Given the description of an element on the screen output the (x, y) to click on. 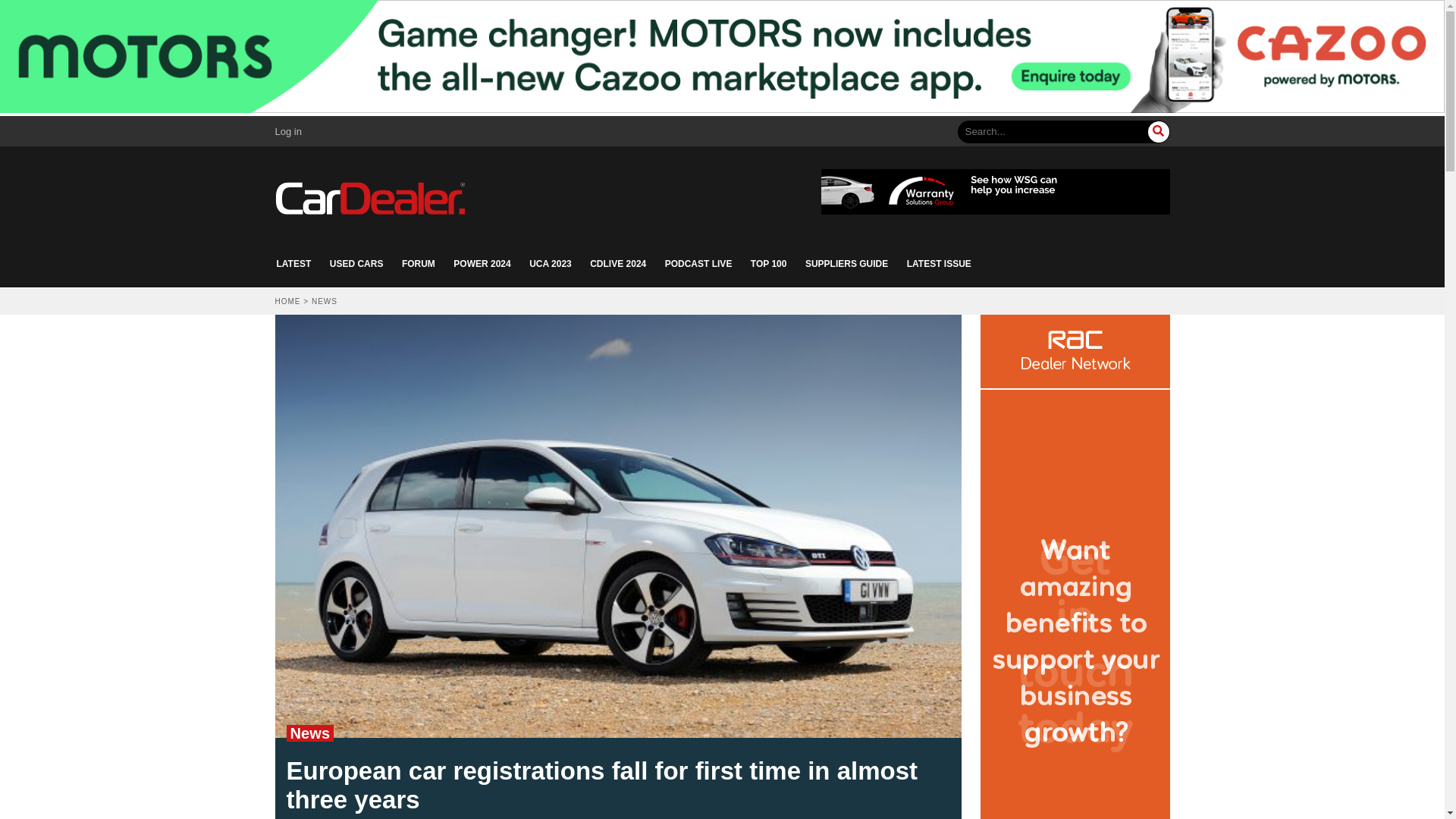
CDLIVE 2024 (617, 263)
LATEST ISSUE (939, 263)
POWER 2024 (481, 263)
FORUM (418, 263)
HOME (287, 301)
Log in (288, 131)
UCA 2023 (550, 263)
SUPPLIERS GUIDE (846, 263)
PODCAST LIVE (698, 263)
NEWS (324, 301)
